Given the description of an element on the screen output the (x, y) to click on. 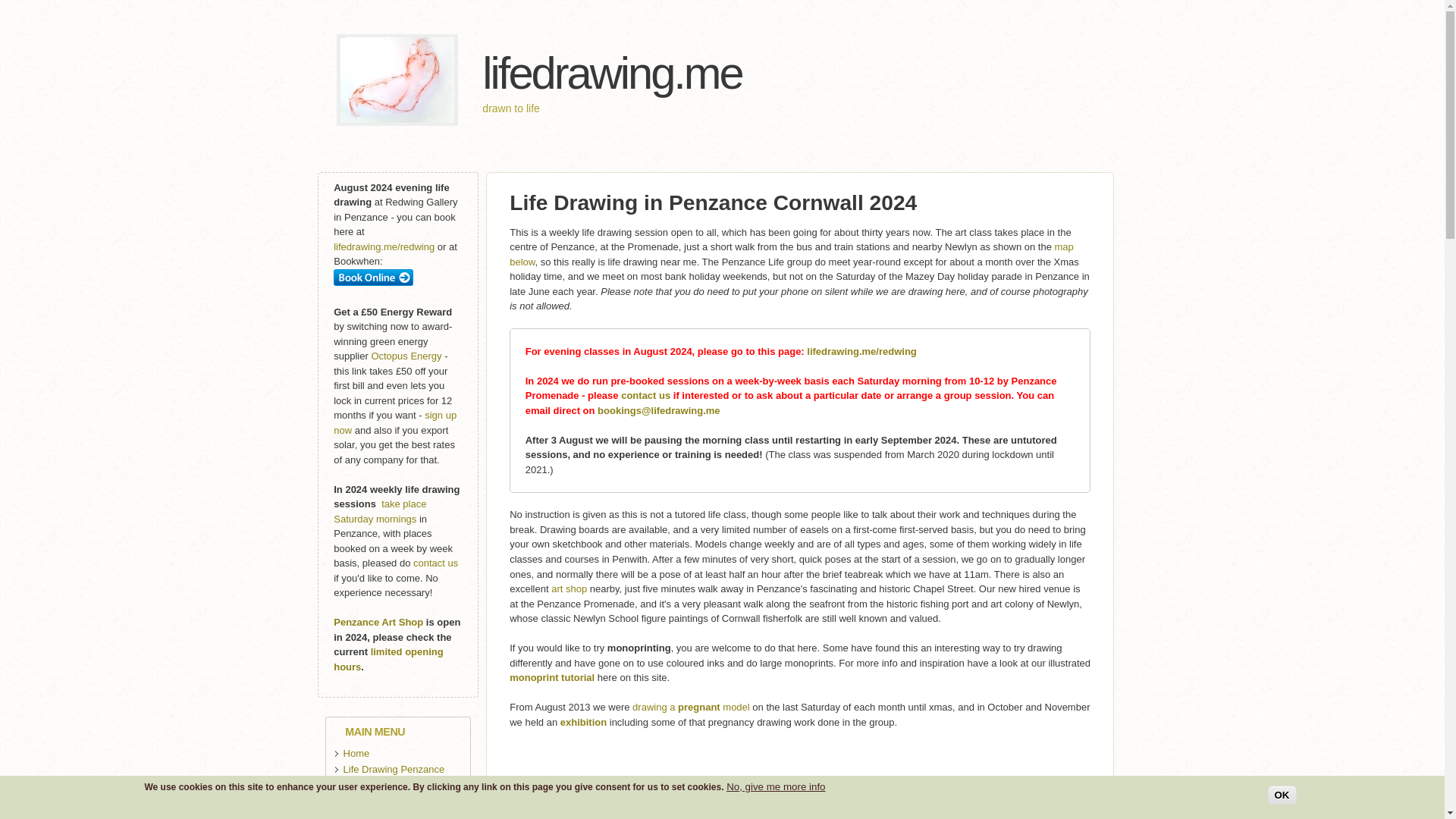
art shop (568, 588)
Home page (611, 72)
contact us (645, 395)
lifedrawing.me (611, 72)
Life Drawing in Penzance Cornwall 2024 (713, 202)
exhibition (583, 722)
Home page (397, 122)
map below (791, 253)
monoprint tutorial (551, 677)
drawing a pregnant model (690, 706)
